Given the description of an element on the screen output the (x, y) to click on. 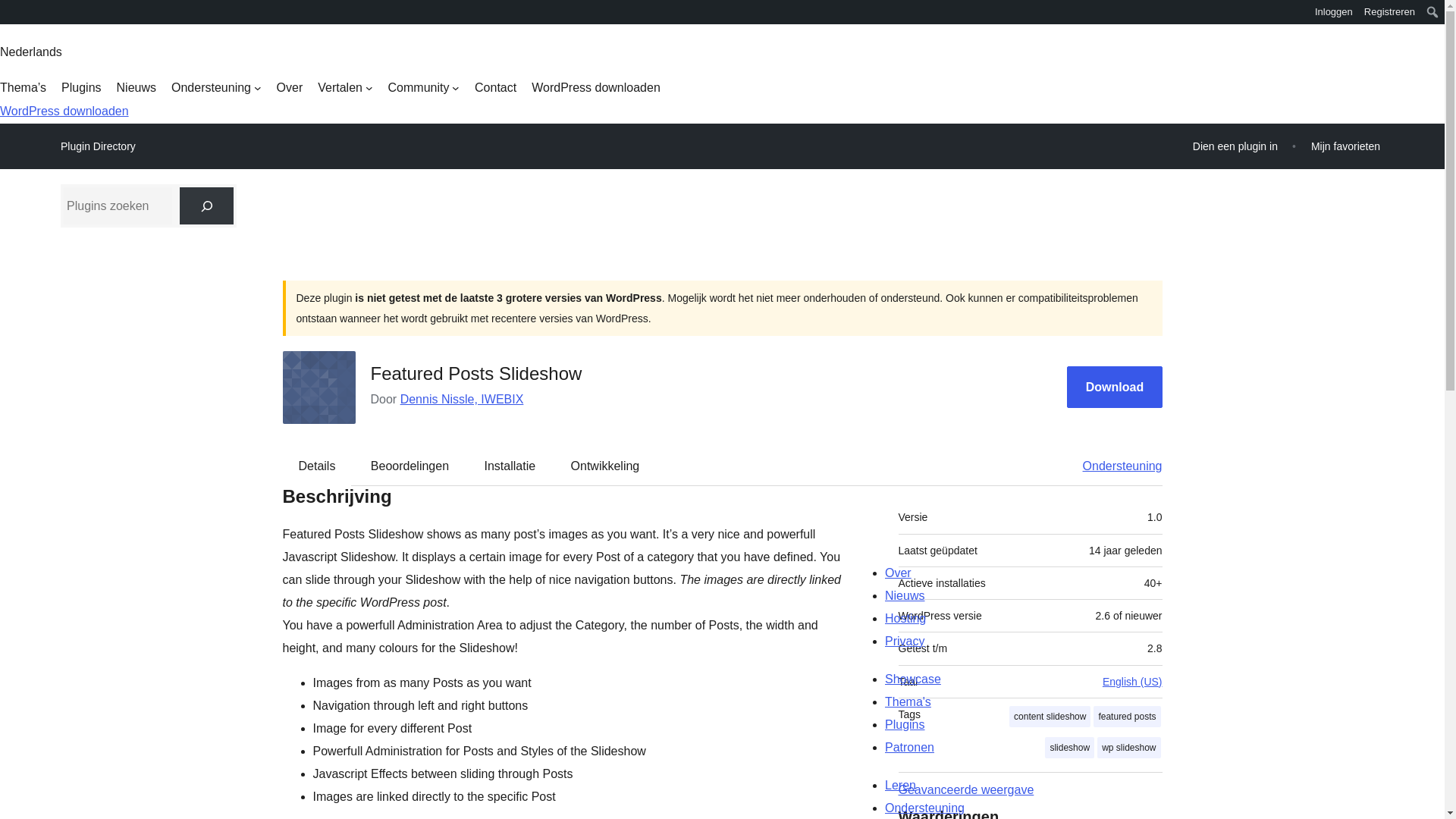
Details (316, 466)
Download (1114, 386)
Nieuws (135, 87)
Ondersteuning (216, 87)
Plugin Directory (97, 146)
Installatie (509, 466)
Mijn favorieten (1345, 145)
Vertalen (344, 87)
WordPress downloaden (596, 87)
Inloggen (1333, 12)
